Given the description of an element on the screen output the (x, y) to click on. 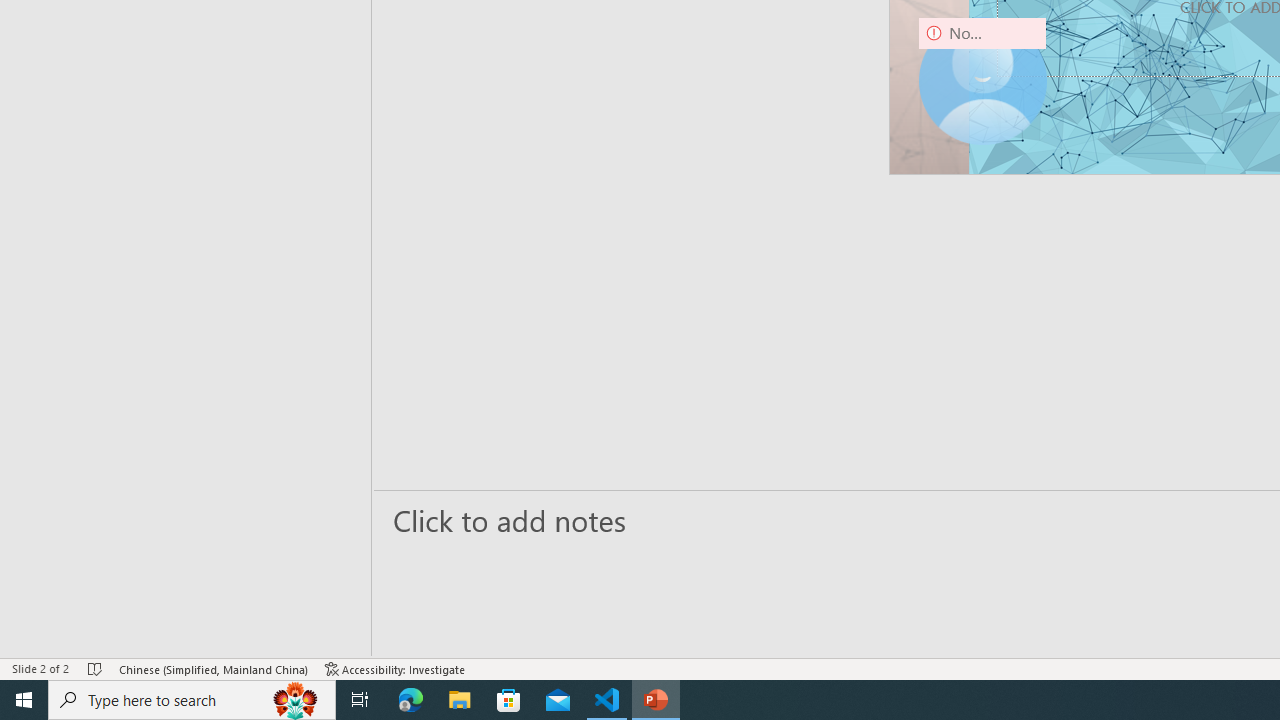
Camera 9, No camera detected. (982, 80)
